Given the description of an element on the screen output the (x, y) to click on. 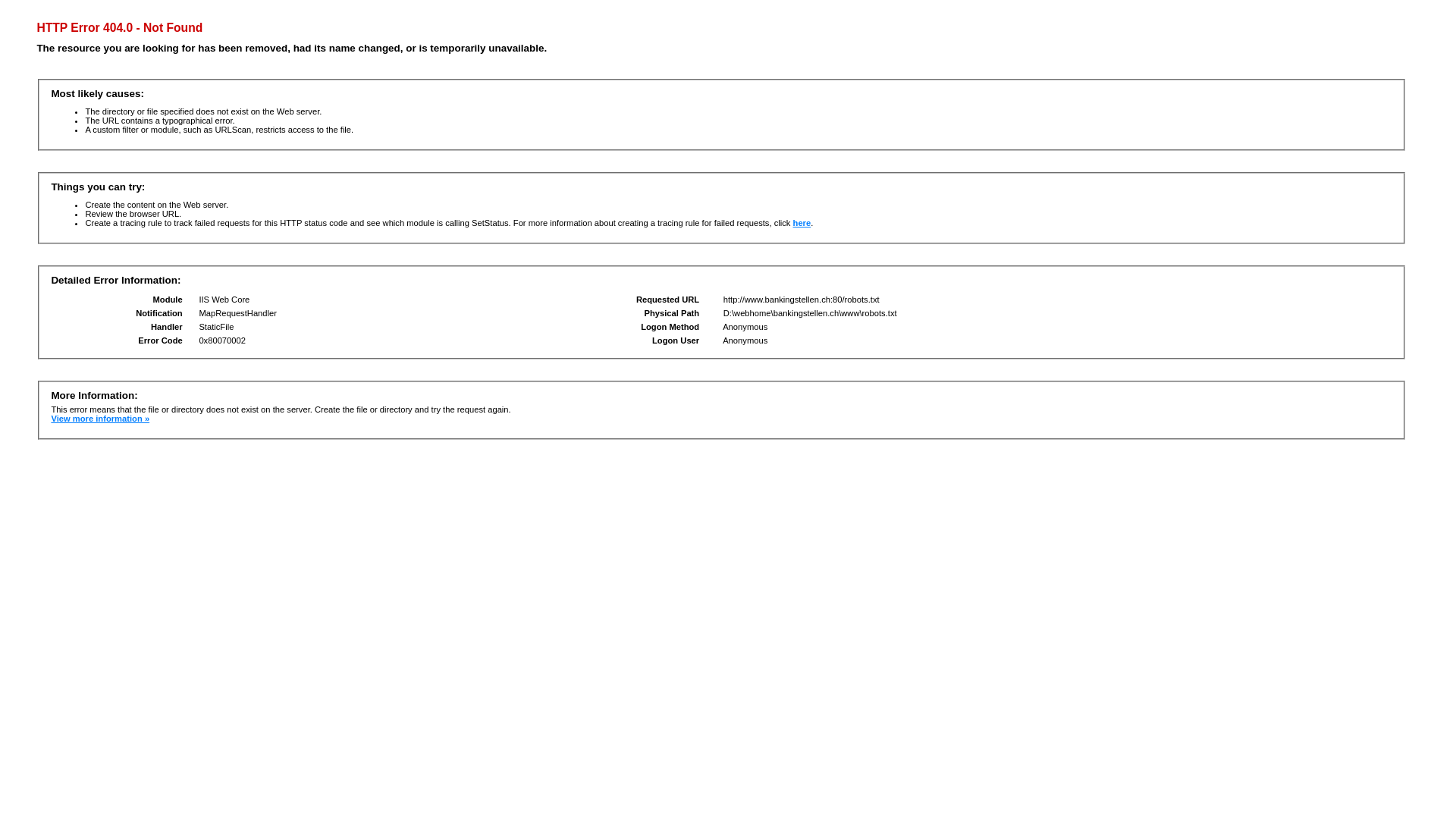
here Element type: text (802, 222)
